Given the description of an element on the screen output the (x, y) to click on. 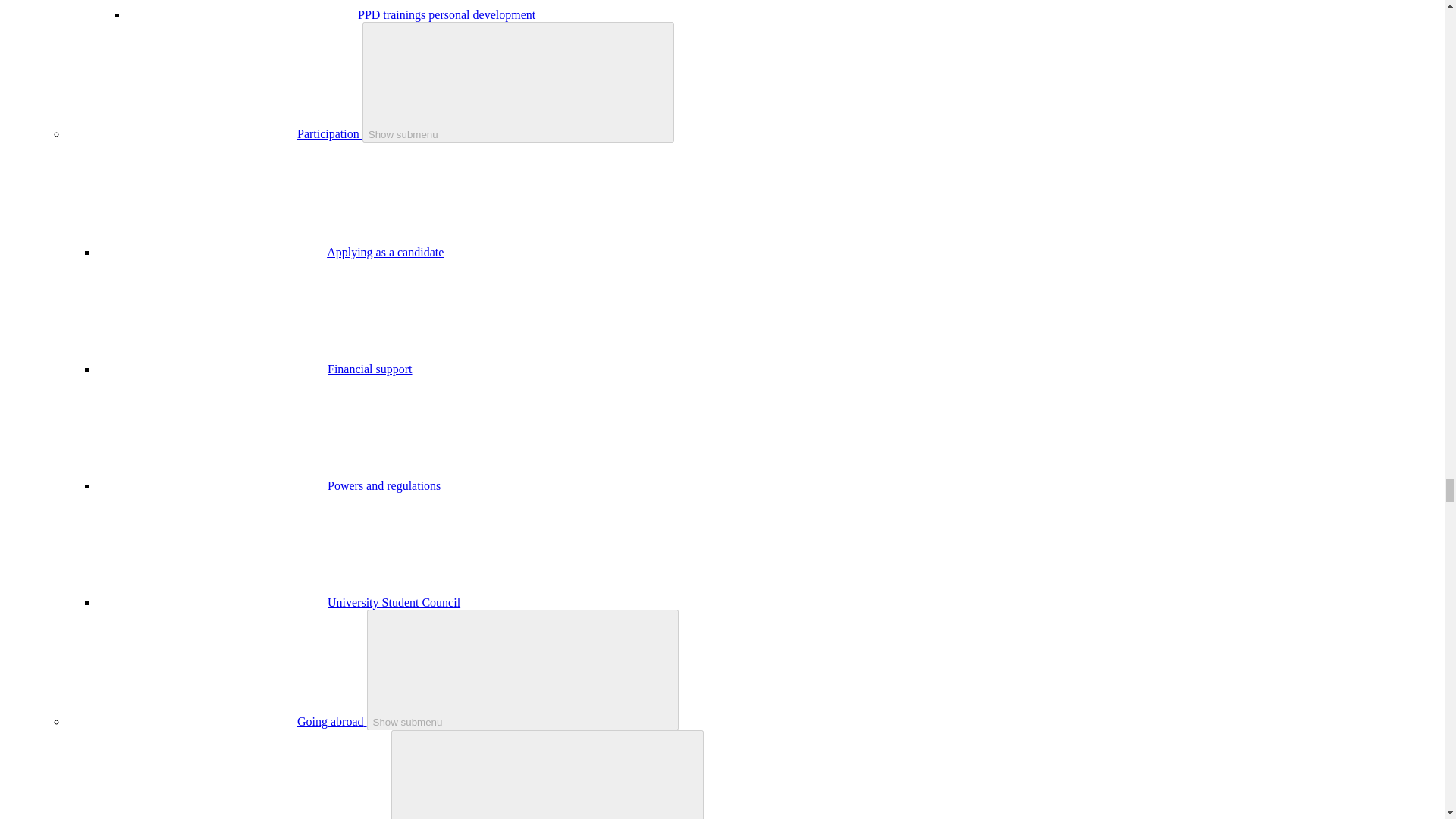
Going abroad (331, 721)
